Given the description of an element on the screen output the (x, y) to click on. 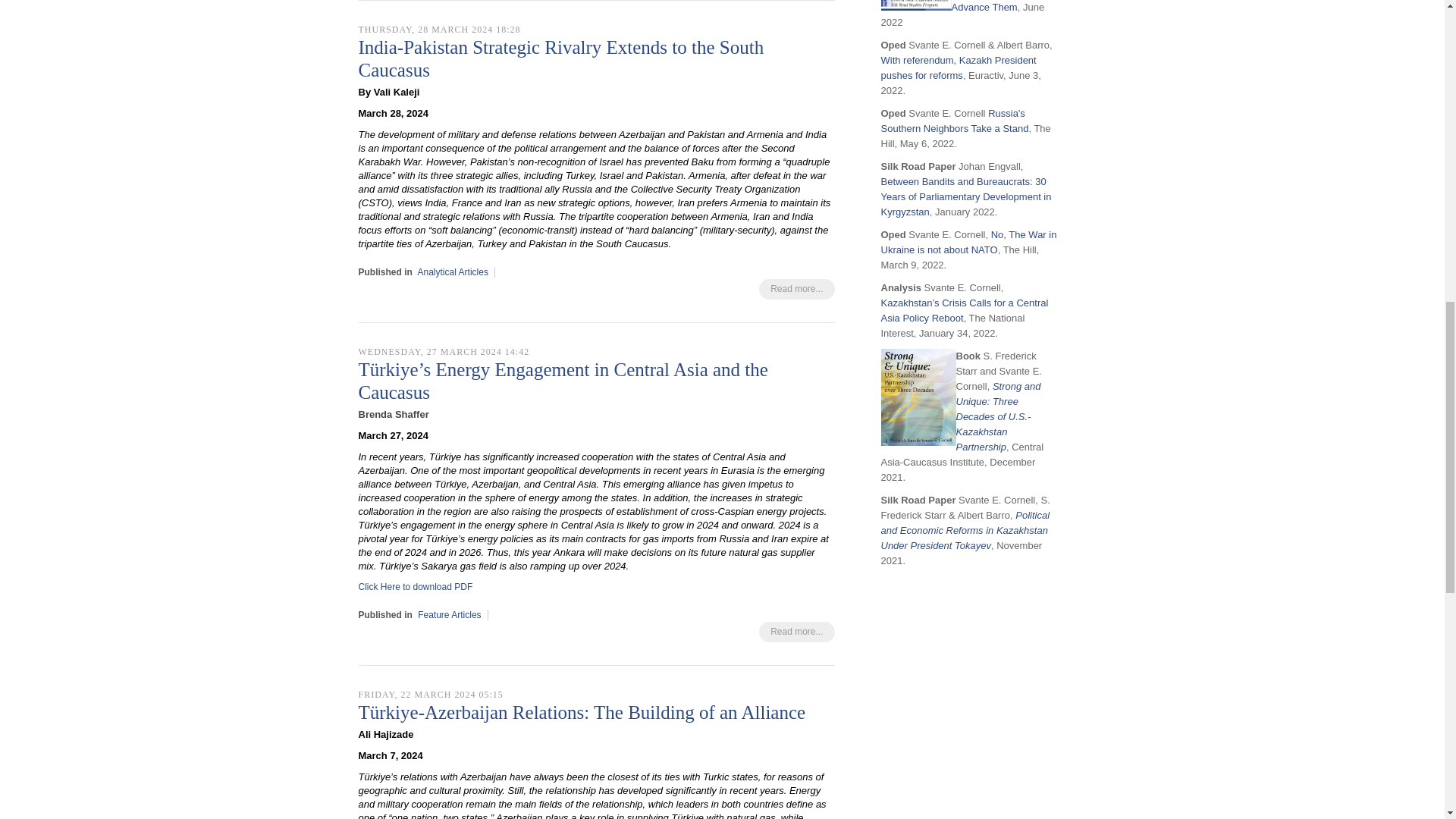
Feature Articles (448, 614)
Read more... (796, 289)
Analytical Articles (452, 271)
Click Here to download PDF (414, 586)
Read more... (796, 631)
